Given the description of an element on the screen output the (x, y) to click on. 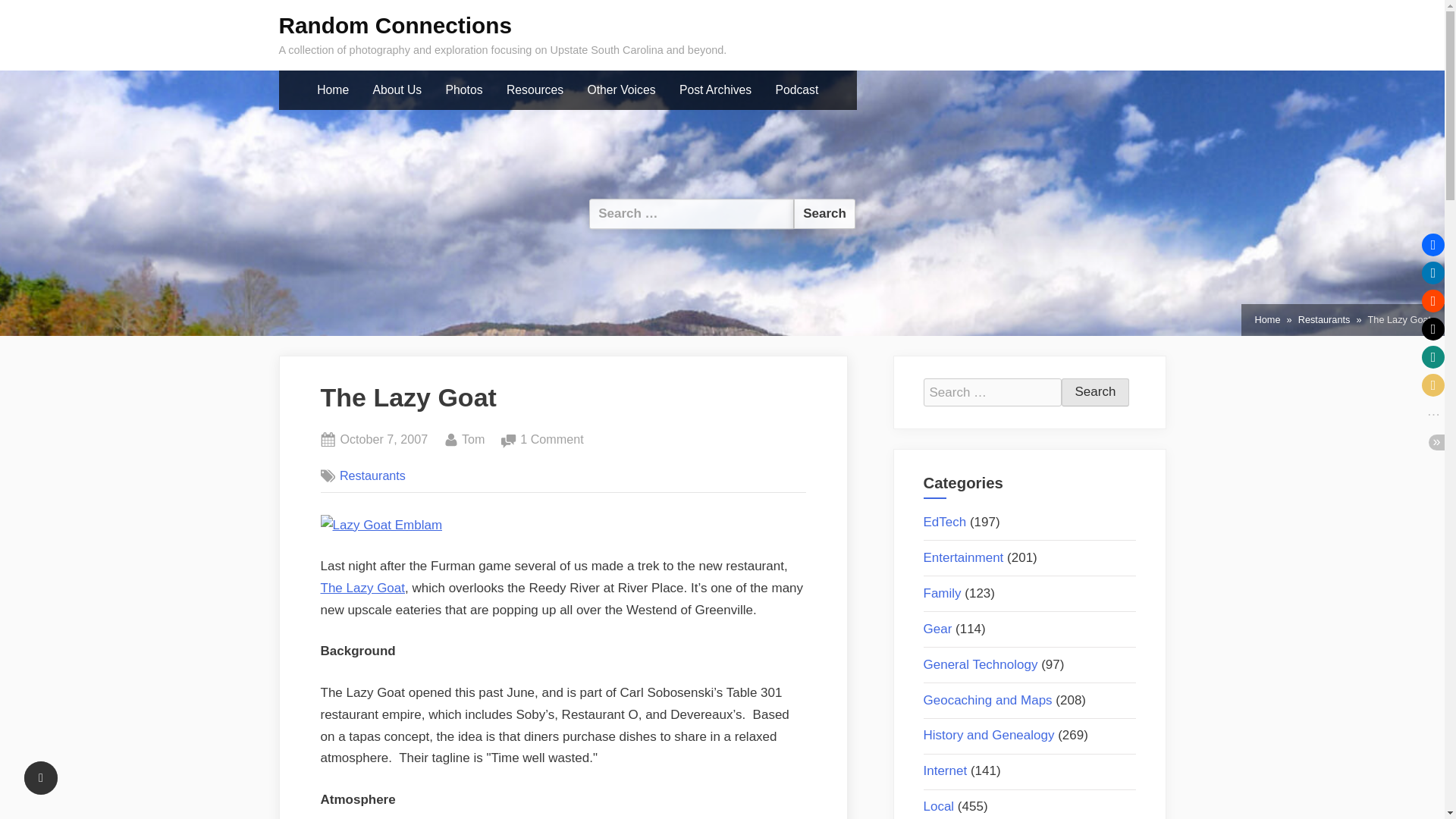
Search (824, 214)
Search (1095, 392)
History and Genealogy (988, 735)
Restaurants (1324, 320)
Search (824, 214)
Search (1095, 392)
Entertainment (963, 557)
Podcast (797, 90)
EdTech (944, 522)
Other Voices (621, 90)
